Given the description of an element on the screen output the (x, y) to click on. 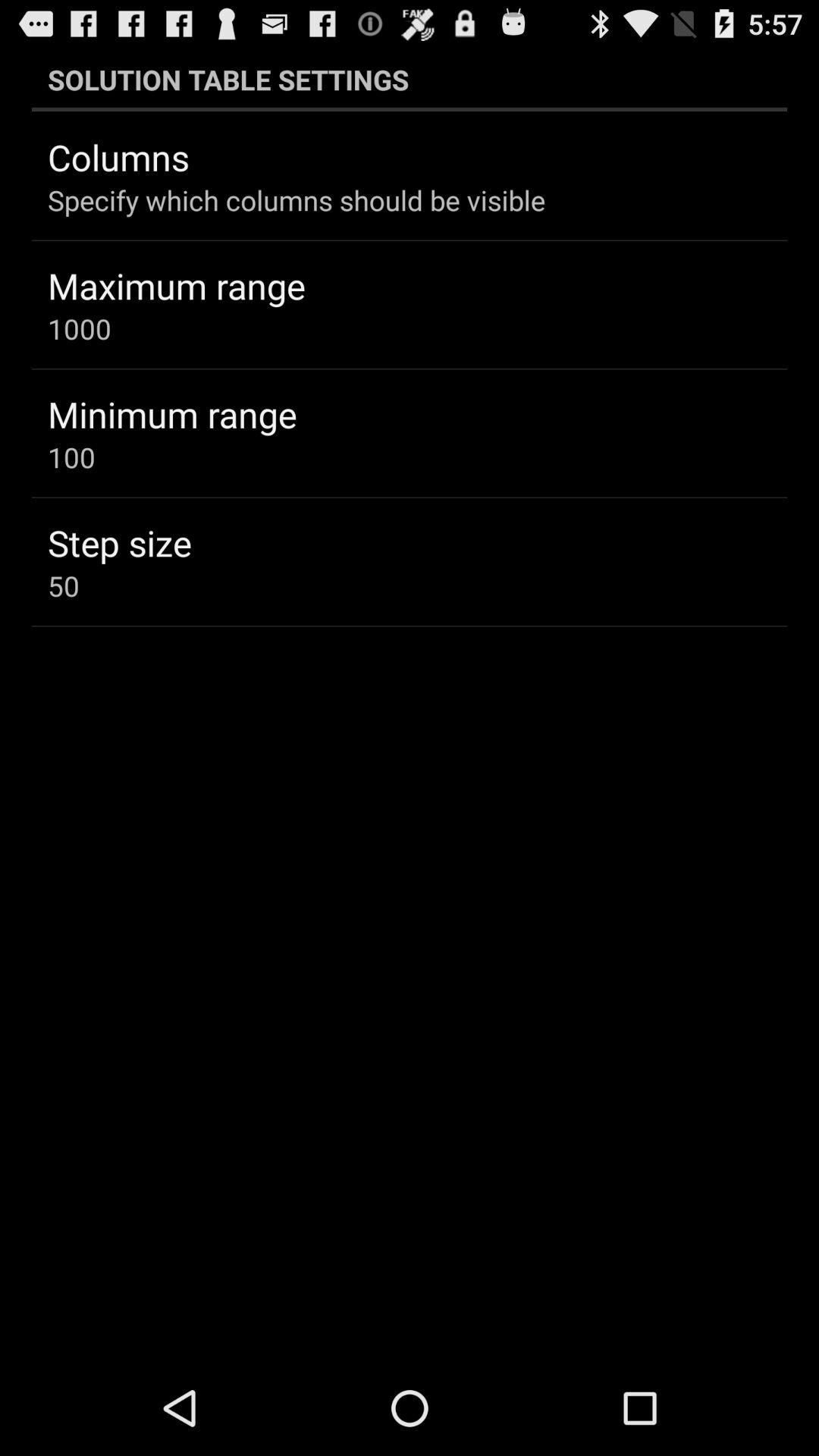
turn off app above the step size item (71, 457)
